Given the description of an element on the screen output the (x, y) to click on. 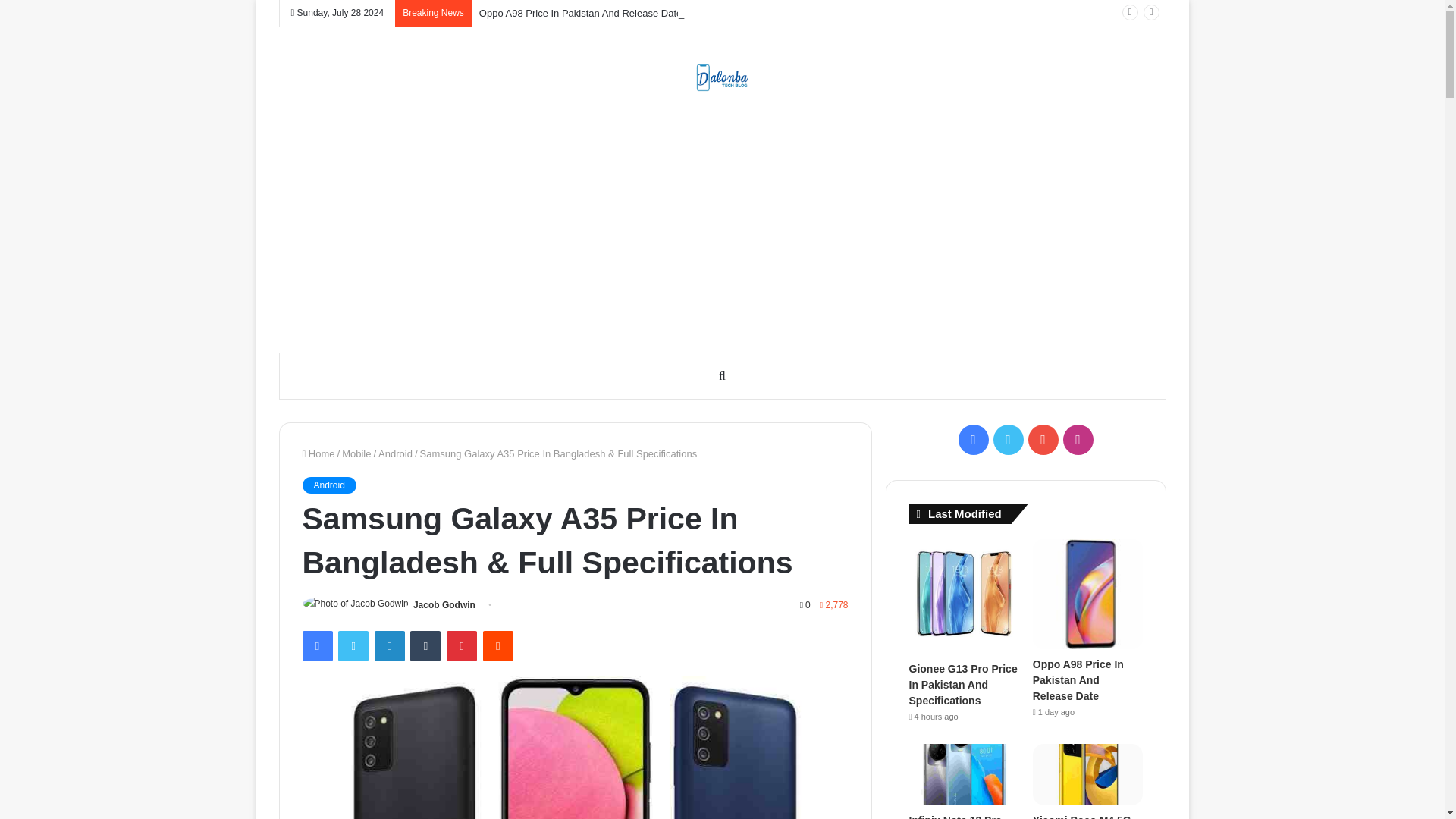
Reddit (498, 645)
Pinterest (461, 645)
Jacob Godwin (444, 604)
Tumblr (425, 645)
Reddit (498, 645)
Android (328, 484)
Facebook (316, 645)
Pinterest (461, 645)
Tumblr (425, 645)
Twitter (352, 645)
Twitter (352, 645)
Android (395, 453)
Facebook (316, 645)
Jacob Godwin (444, 604)
